Given the description of an element on the screen output the (x, y) to click on. 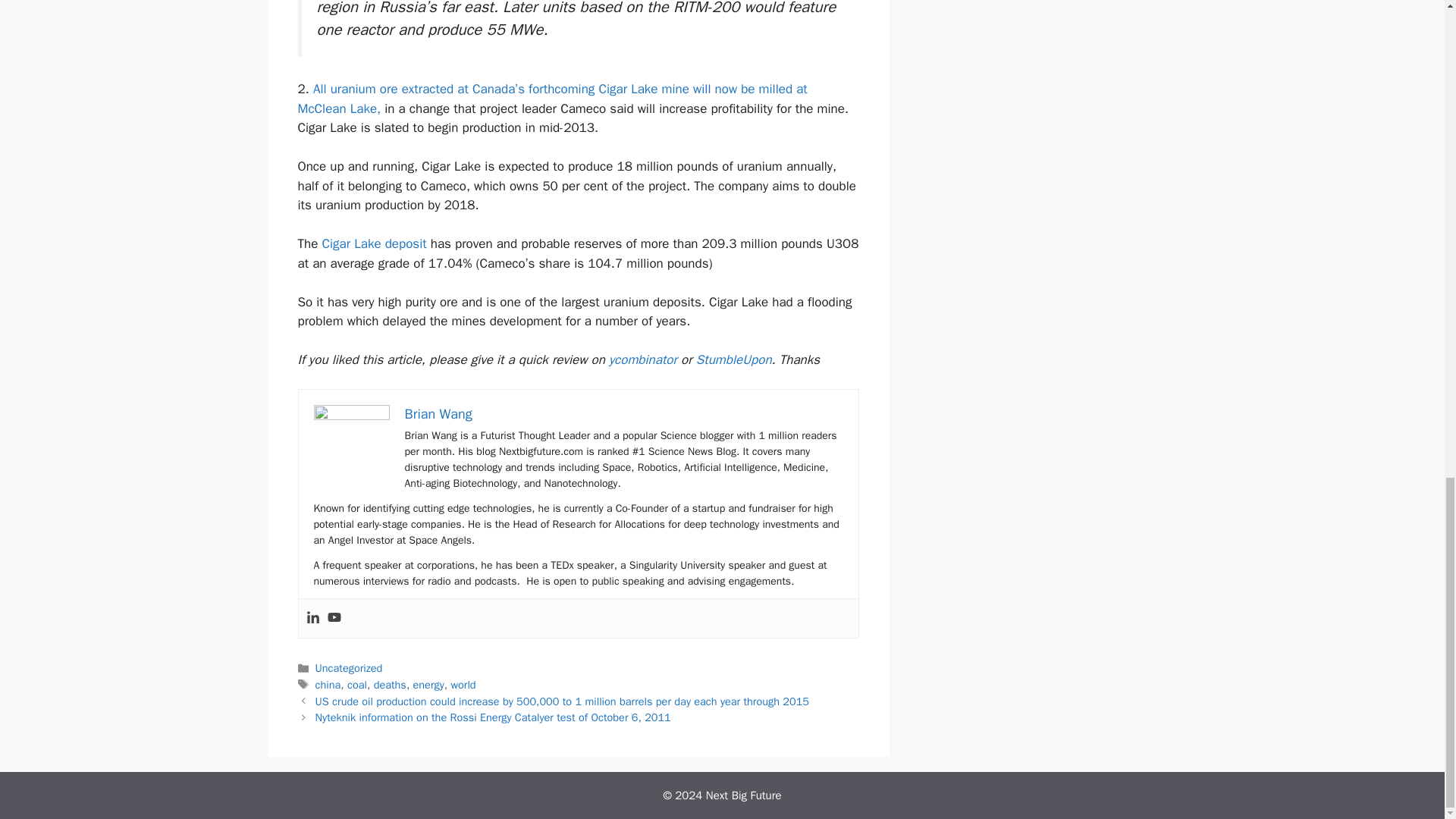
energy (428, 684)
coal (356, 684)
china (327, 684)
StumbleUpon (733, 359)
Cigar Lake deposit (373, 243)
world (462, 684)
Brian Wang (437, 413)
Uncategorized (348, 667)
ycombinator (642, 359)
deaths (390, 684)
